Given the description of an element on the screen output the (x, y) to click on. 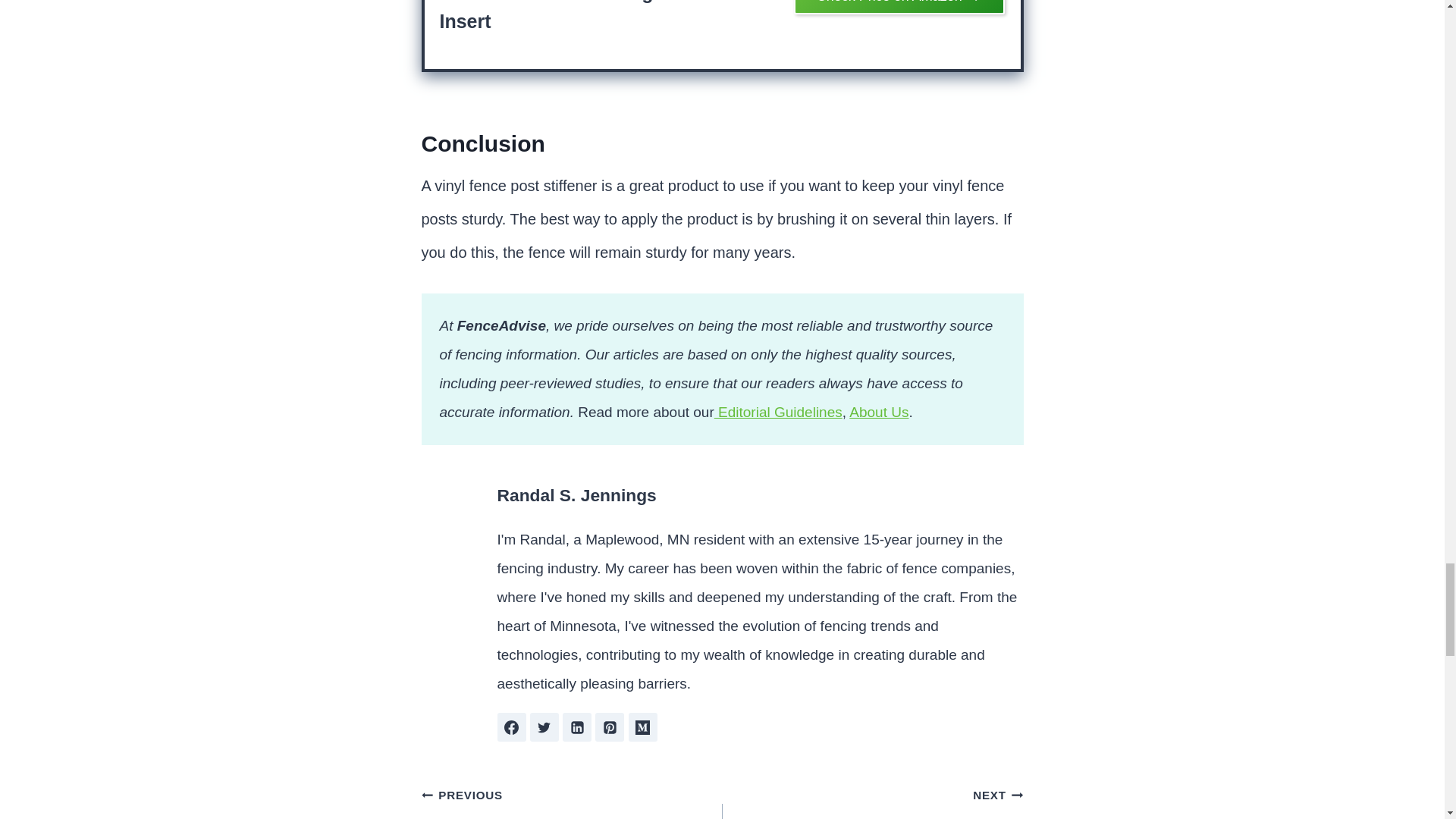
Follow Randal S. Jennings on Linkedin (576, 727)
Editorial Guidelines (778, 412)
Follow Randal S. Jennings on Facebook (511, 727)
Follow Randal S. Jennings on Medium (643, 727)
Check Price on Amazon (898, 7)
Follow Randal S. Jennings on Pinterest (609, 727)
Posts by Randal S. Jennings (576, 495)
Follow Randal S. Jennings on Twitter (544, 727)
